Given the description of an element on the screen output the (x, y) to click on. 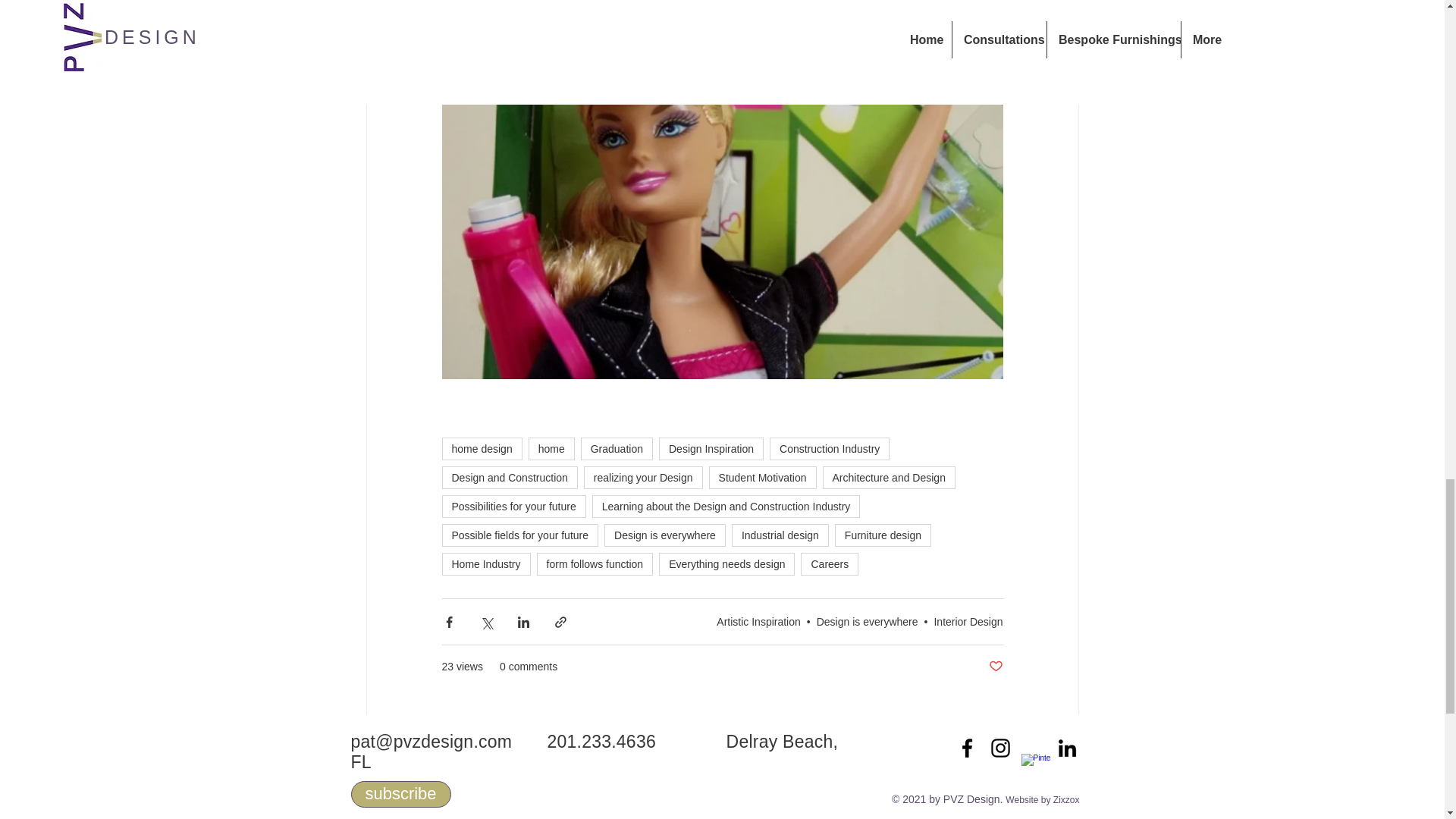
Design Inspiration (710, 448)
Design is everywhere (664, 535)
Learning about the Design and Construction Industry (726, 506)
Graduation (616, 448)
Design and Construction (508, 477)
realizing your Design (643, 477)
Construction Industry (829, 448)
home (551, 448)
Industrial design (780, 535)
Possible fields for your future (519, 535)
Architecture and Design (888, 477)
Possibilities for your future (513, 506)
Home Industry (485, 563)
home design (481, 448)
Furniture design (882, 535)
